Given the description of an element on the screen output the (x, y) to click on. 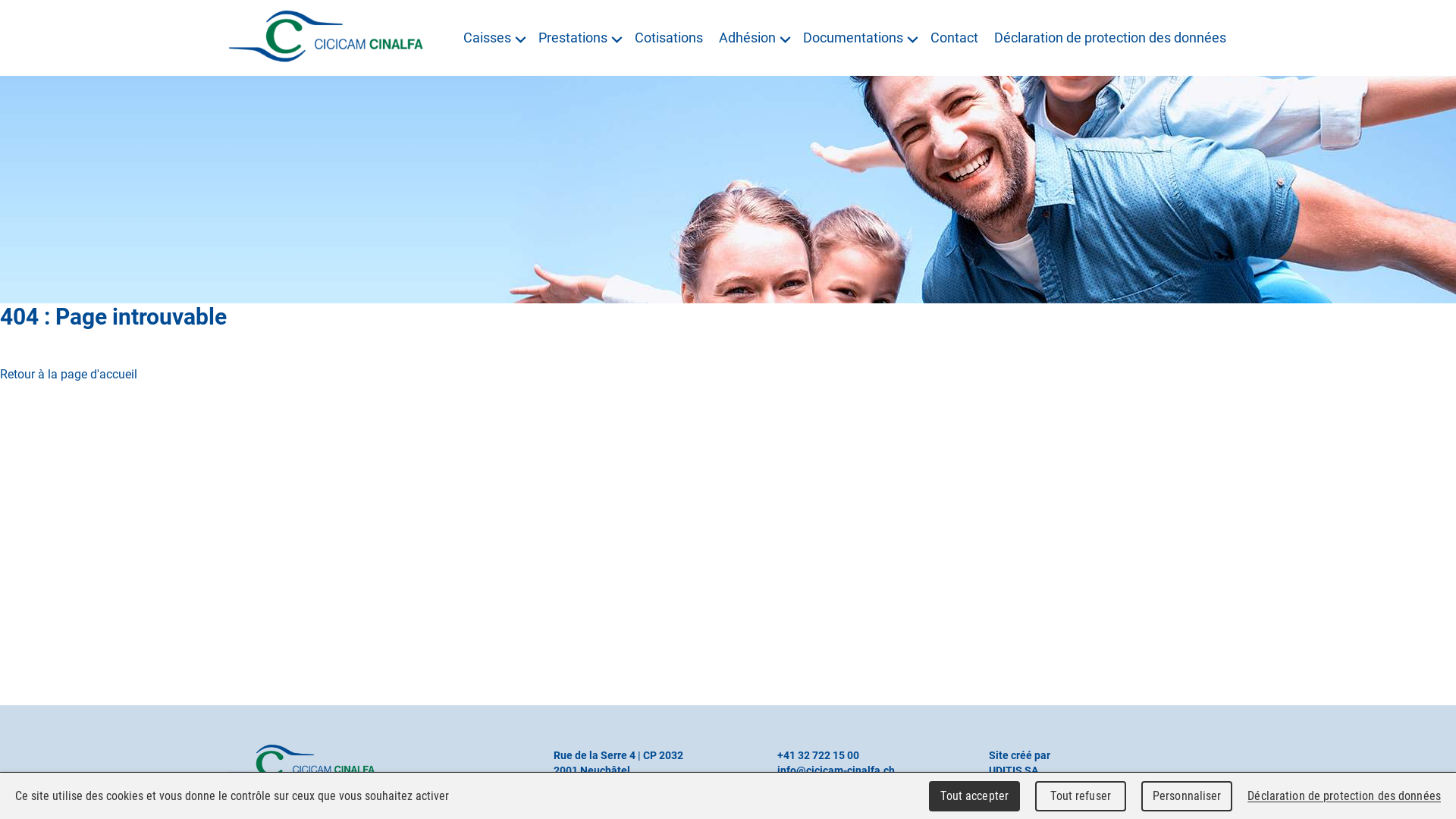
+41 32 722 15 00 Element type: text (818, 755)
Accueil Element type: hover (325, 34)
Accueil Element type: hover (301, 763)
info@cicicam-cinalfa.ch Element type: text (835, 770)
Tout refuser Element type: text (1080, 796)
Tout accepter Element type: text (973, 796)
UDITIS SA Element type: text (1013, 770)
Personnaliser Element type: text (1186, 796)
